Given the description of an element on the screen output the (x, y) to click on. 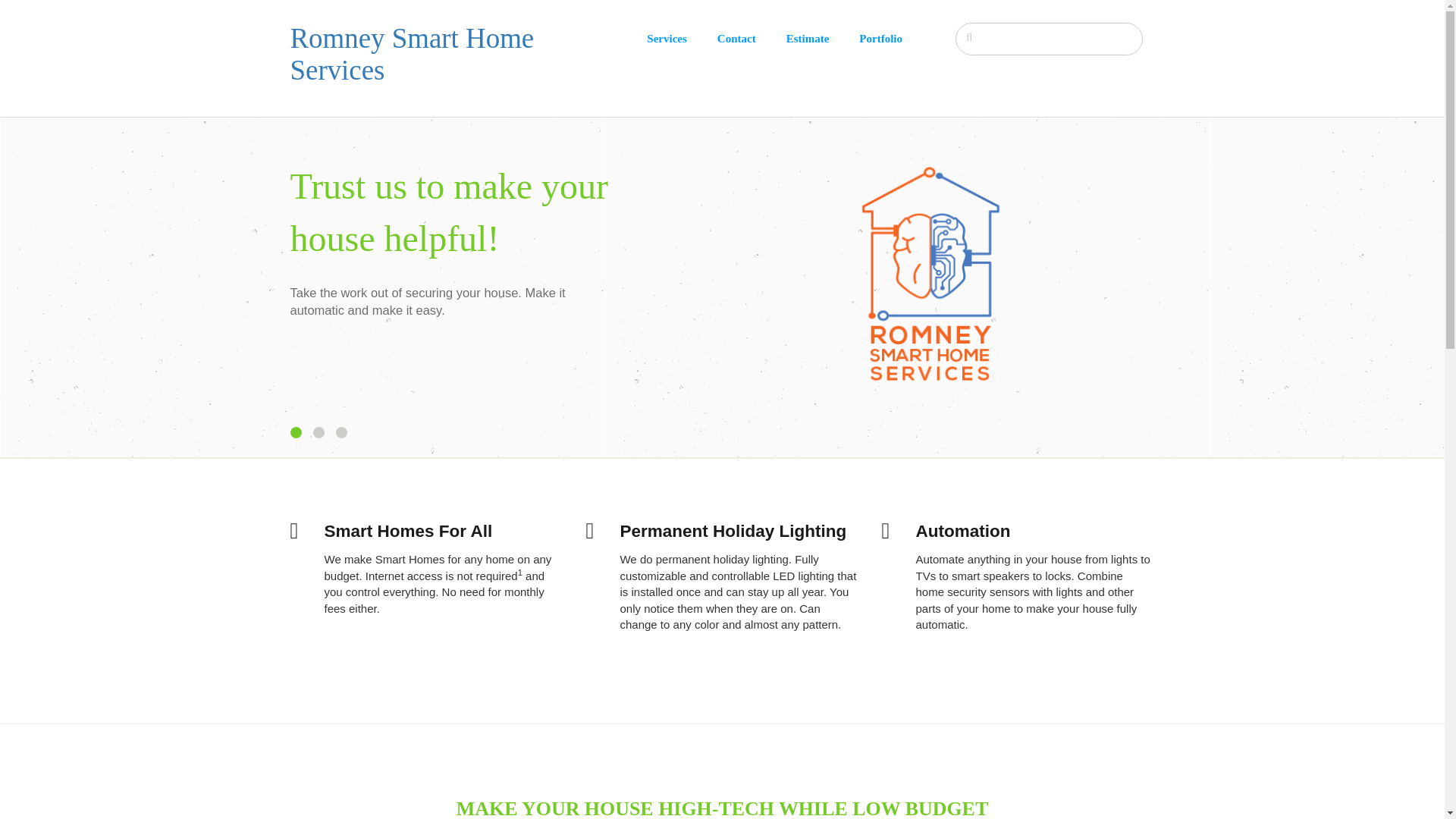
Services (681, 38)
2 (318, 432)
Estimate (823, 38)
3 (340, 432)
Portfolio (896, 38)
Contact (751, 38)
Romney Smart Home Services (411, 53)
1 (295, 432)
